Given the description of an element on the screen output the (x, y) to click on. 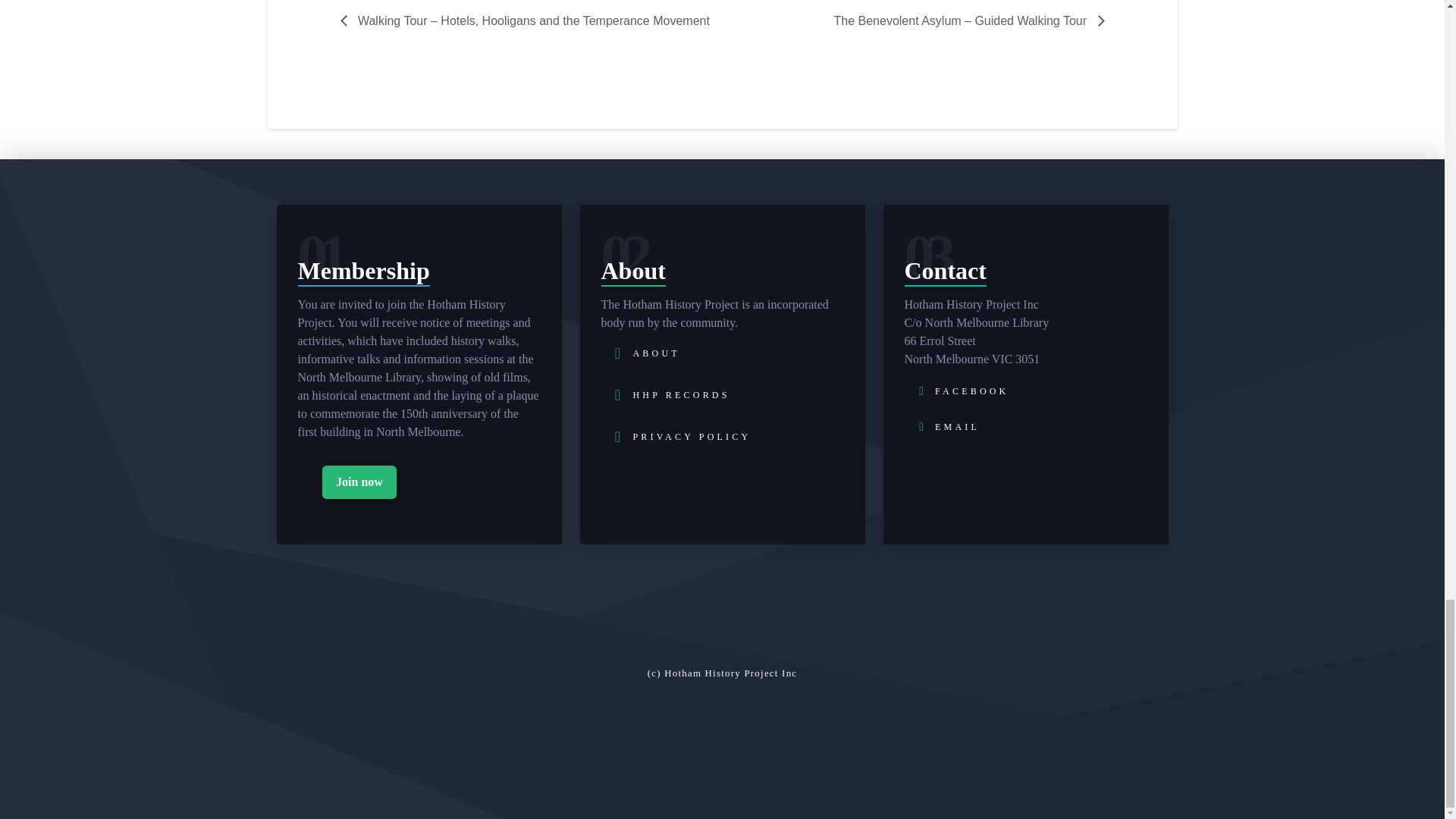
Join now (358, 482)
PRIVACY POLICY (679, 436)
EMAIL (941, 422)
ABOUT (643, 352)
HHP RECORDS (669, 394)
FACEBOOK (956, 386)
